Given the description of an element on the screen output the (x, y) to click on. 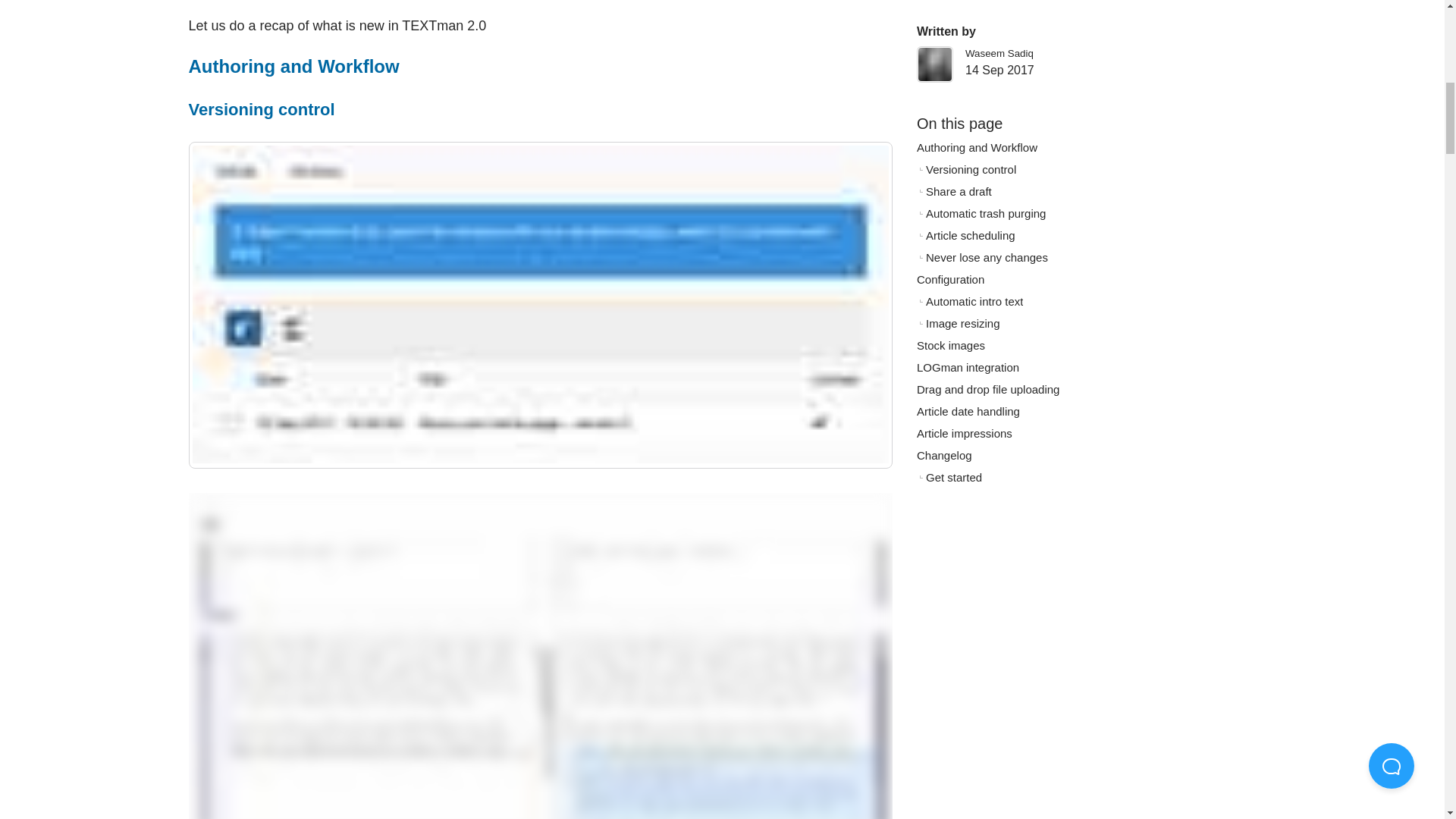
Authoring and Workflow (292, 66)
Versioning control (260, 108)
